Given the description of an element on the screen output the (x, y) to click on. 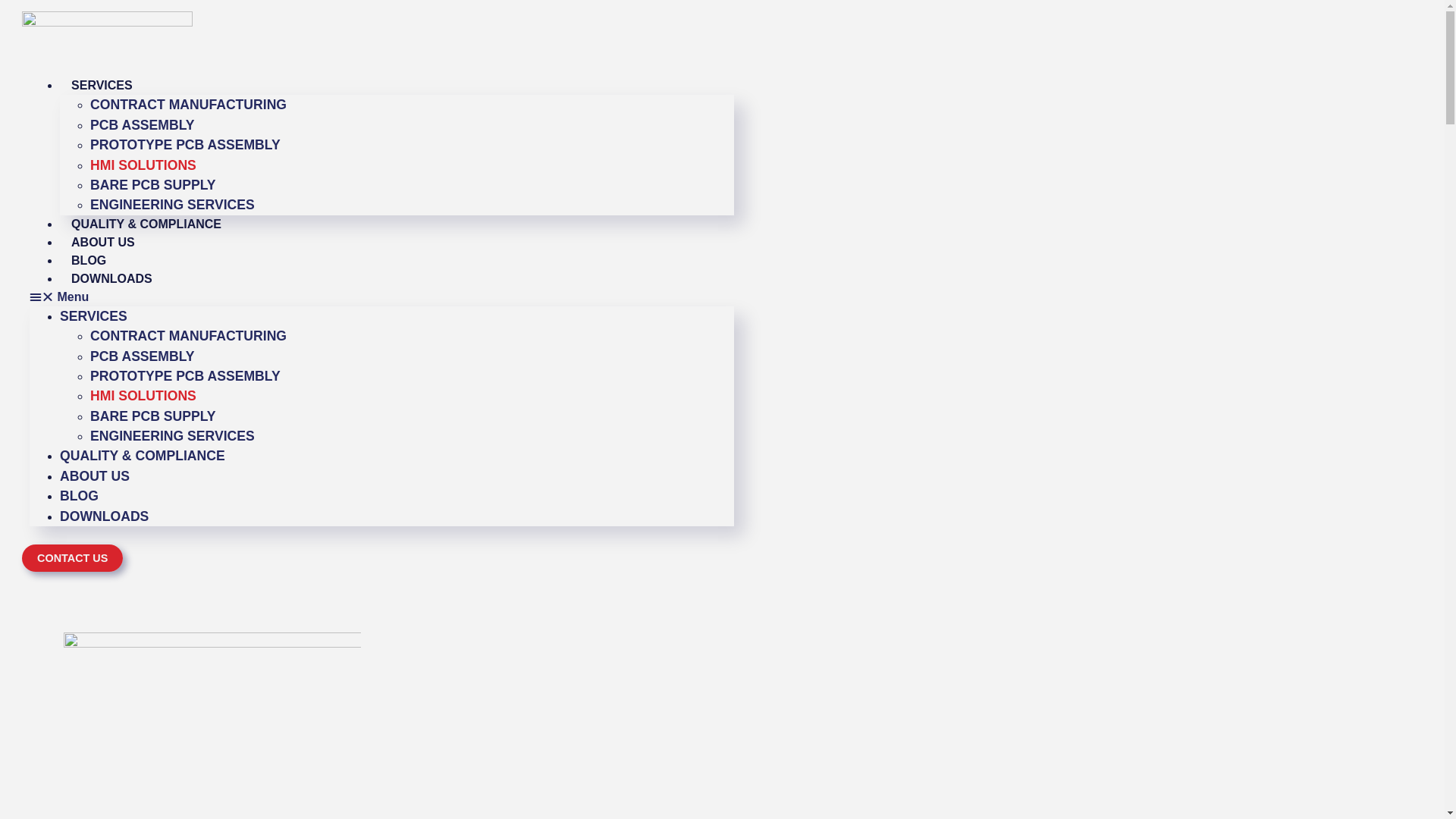
BLOG Element type: text (88, 260)
ABOUT US Element type: text (102, 241)
QUALITY & COMPLIANCE Element type: text (142, 455)
CONTACT US Element type: text (71, 557)
SERVICES Element type: text (101, 84)
CONTRACT MANUFACTURING Element type: text (188, 104)
PCB ASSEMBLY Element type: text (142, 124)
BARE PCB SUPPLY Element type: text (153, 184)
SERVICES Element type: text (93, 315)
PCB ASSEMBLY Element type: text (142, 356)
ENGINEERING SERVICES Element type: text (172, 435)
DOWNLOADS Element type: text (103, 516)
ENGINEERING SERVICES Element type: text (172, 204)
HMI SOLUTIONS Element type: text (143, 164)
PROTOTYPE PCB ASSEMBLY Element type: text (185, 144)
ABOUT US Element type: text (94, 475)
CONTRACT MANUFACTURING Element type: text (188, 335)
DOWNLOADS Element type: text (111, 278)
QUALITY & COMPLIANCE Element type: text (145, 223)
PROTOTYPE PCB ASSEMBLY Element type: text (185, 375)
BLOG Element type: text (78, 495)
BARE PCB SUPPLY Element type: text (153, 415)
HMI SOLUTIONS Element type: text (143, 395)
